Given the description of an element on the screen output the (x, y) to click on. 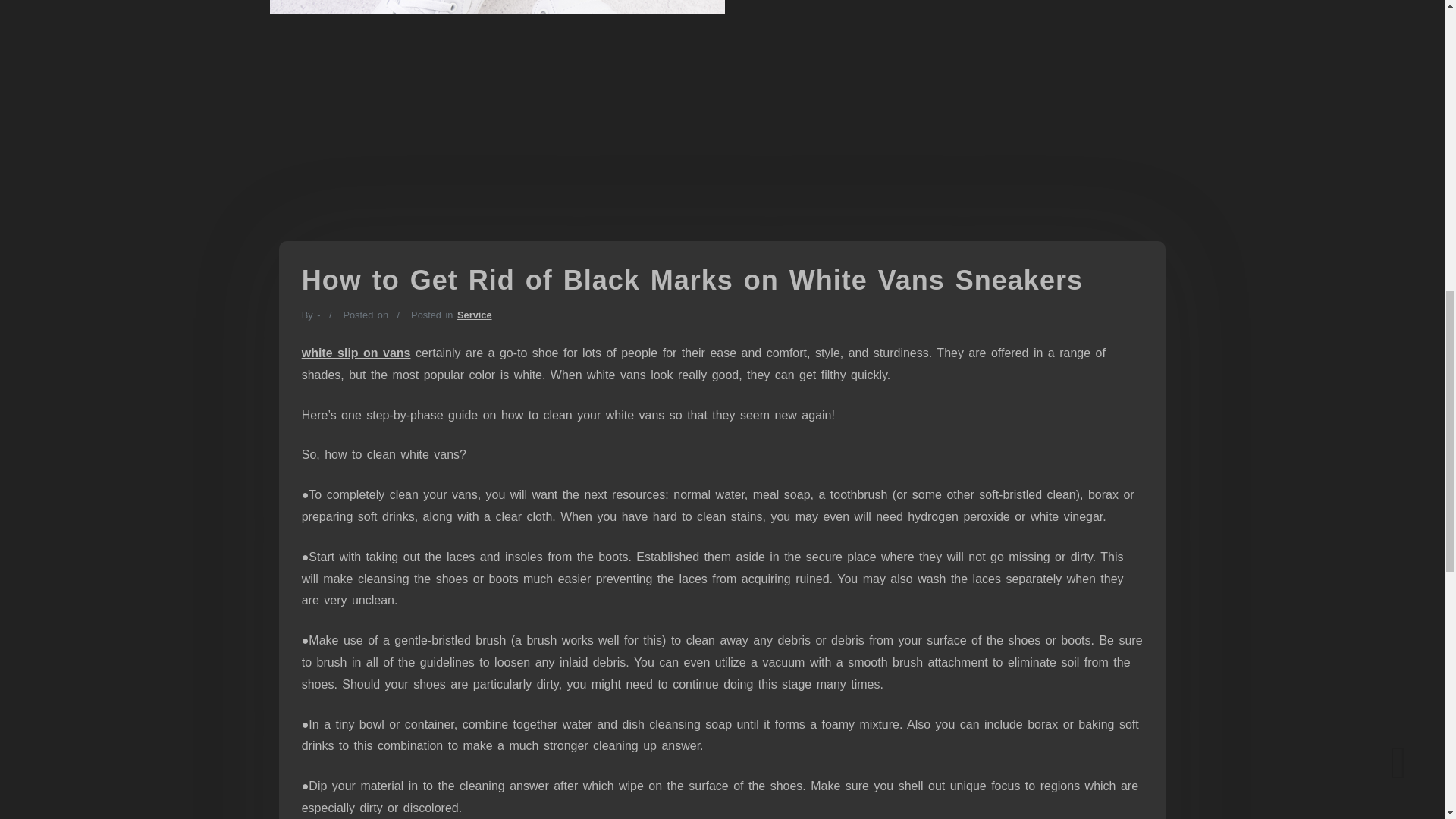
white slip on vans (355, 352)
Service (474, 315)
